Given the description of an element on the screen output the (x, y) to click on. 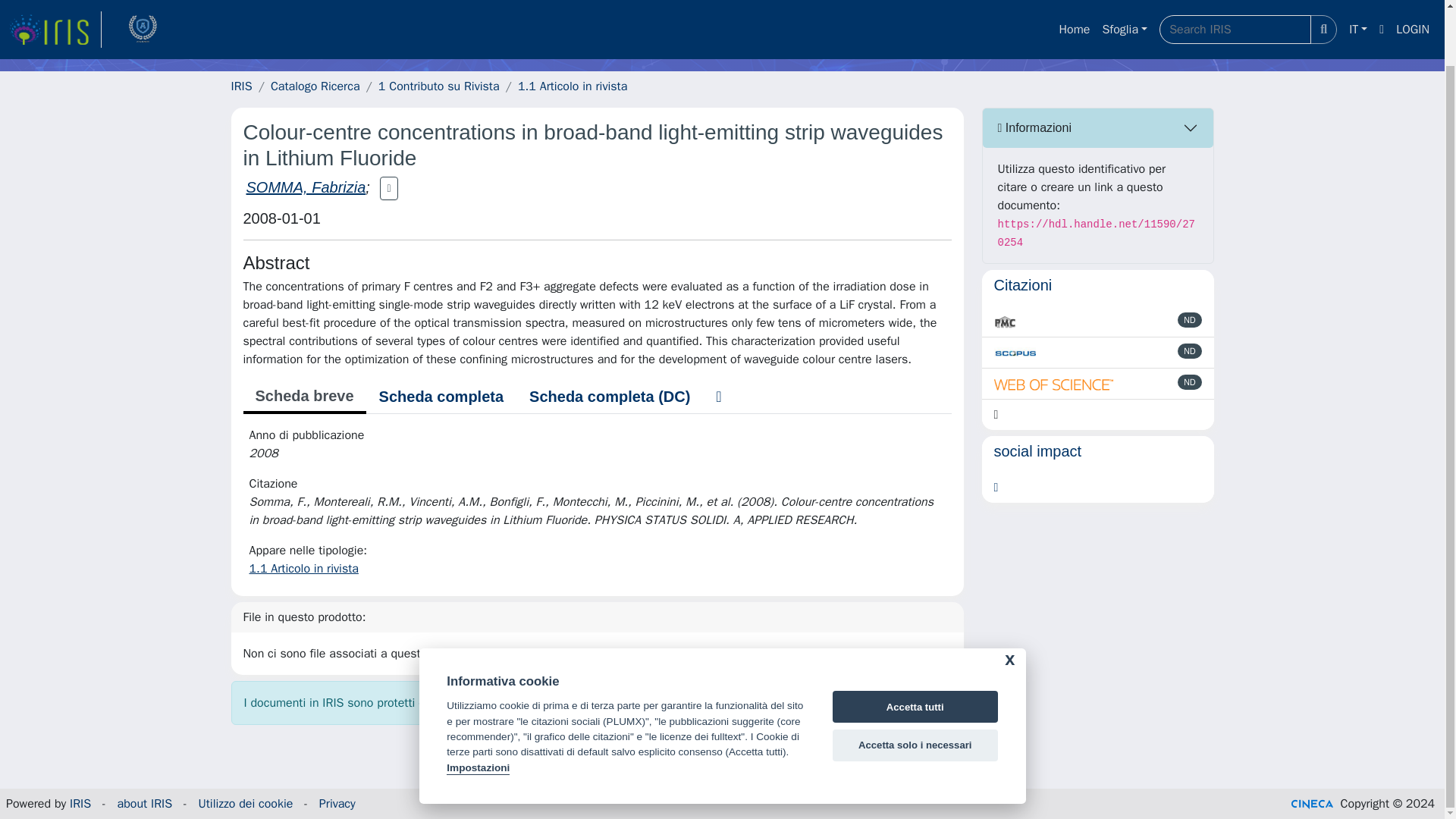
Scheda breve (304, 397)
1 Contributo su Rivista (438, 86)
 Informazioni (1097, 128)
Catalogo Ricerca (314, 86)
IRIS (79, 803)
IRIS (240, 86)
SOMMA, Fabrizia (305, 187)
1.1 Articolo in rivista (572, 86)
Scheda completa (441, 396)
1.1 Articolo in rivista (303, 568)
